Given the description of an element on the screen output the (x, y) to click on. 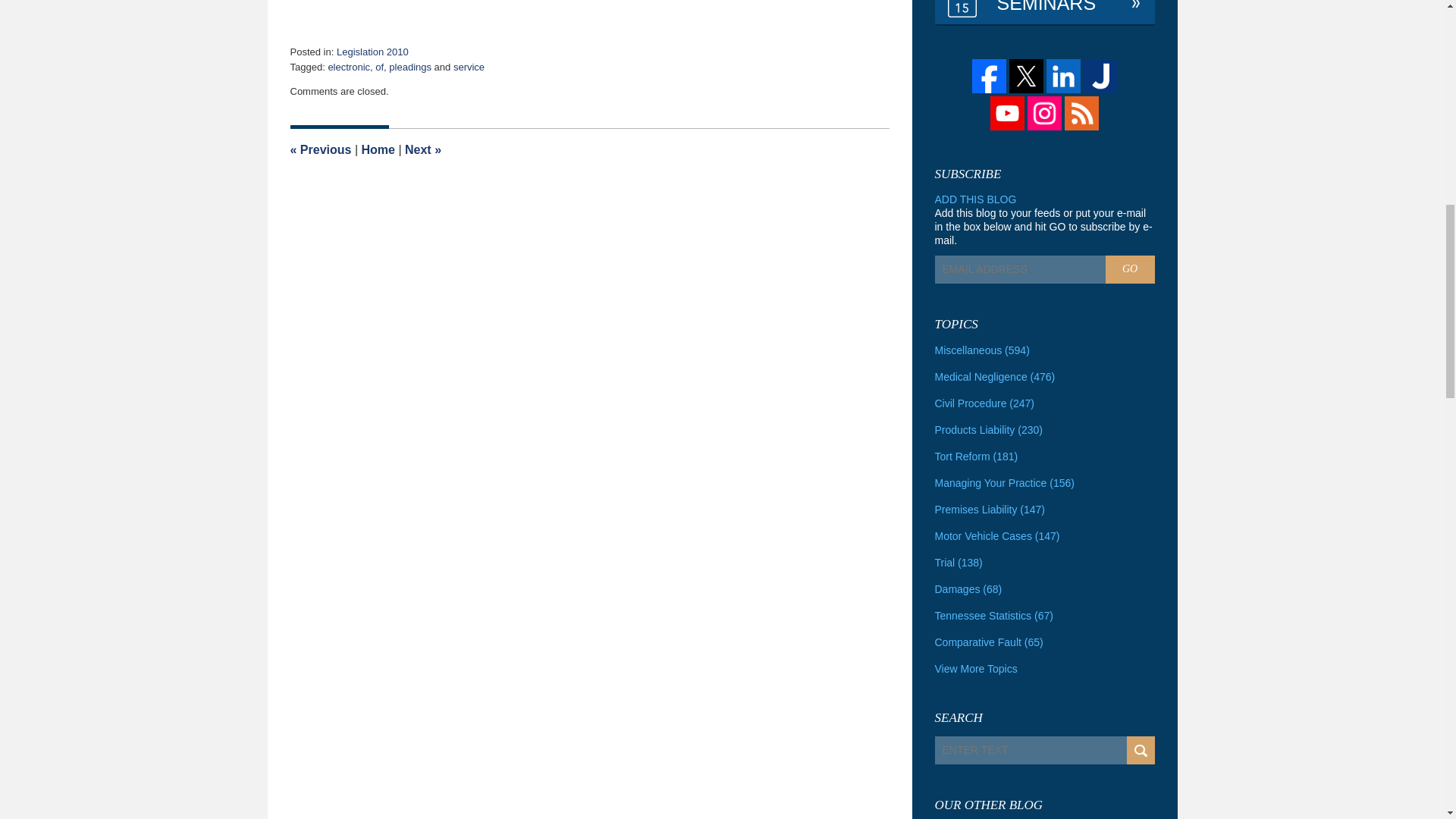
Facebook (989, 75)
SEMINARS (1044, 12)
View all posts tagged with pleadings (409, 66)
Legislation 2010 (372, 51)
Home (377, 149)
Pattern Jury Instructions (422, 149)
electronic (348, 66)
service (468, 66)
Feed (1081, 113)
View all posts tagged with service (468, 66)
LinkedIn (1063, 75)
Justia (1099, 75)
View all posts in Legislation 2010 (372, 51)
YouTube (1007, 113)
Twitter (1025, 75)
